Given the description of an element on the screen output the (x, y) to click on. 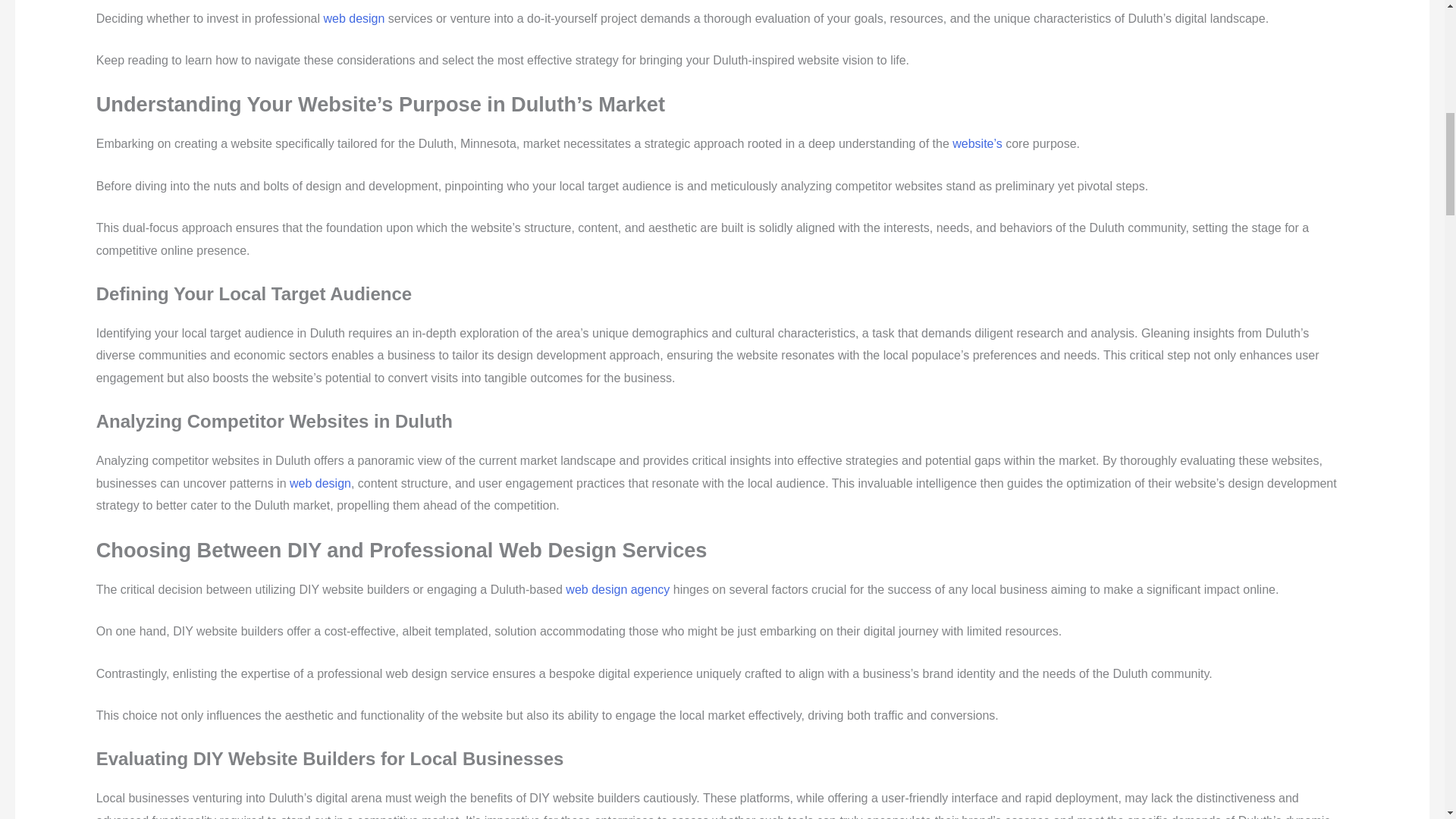
web design (353, 18)
web design agency (617, 589)
web design (319, 482)
